Given the description of an element on the screen output the (x, y) to click on. 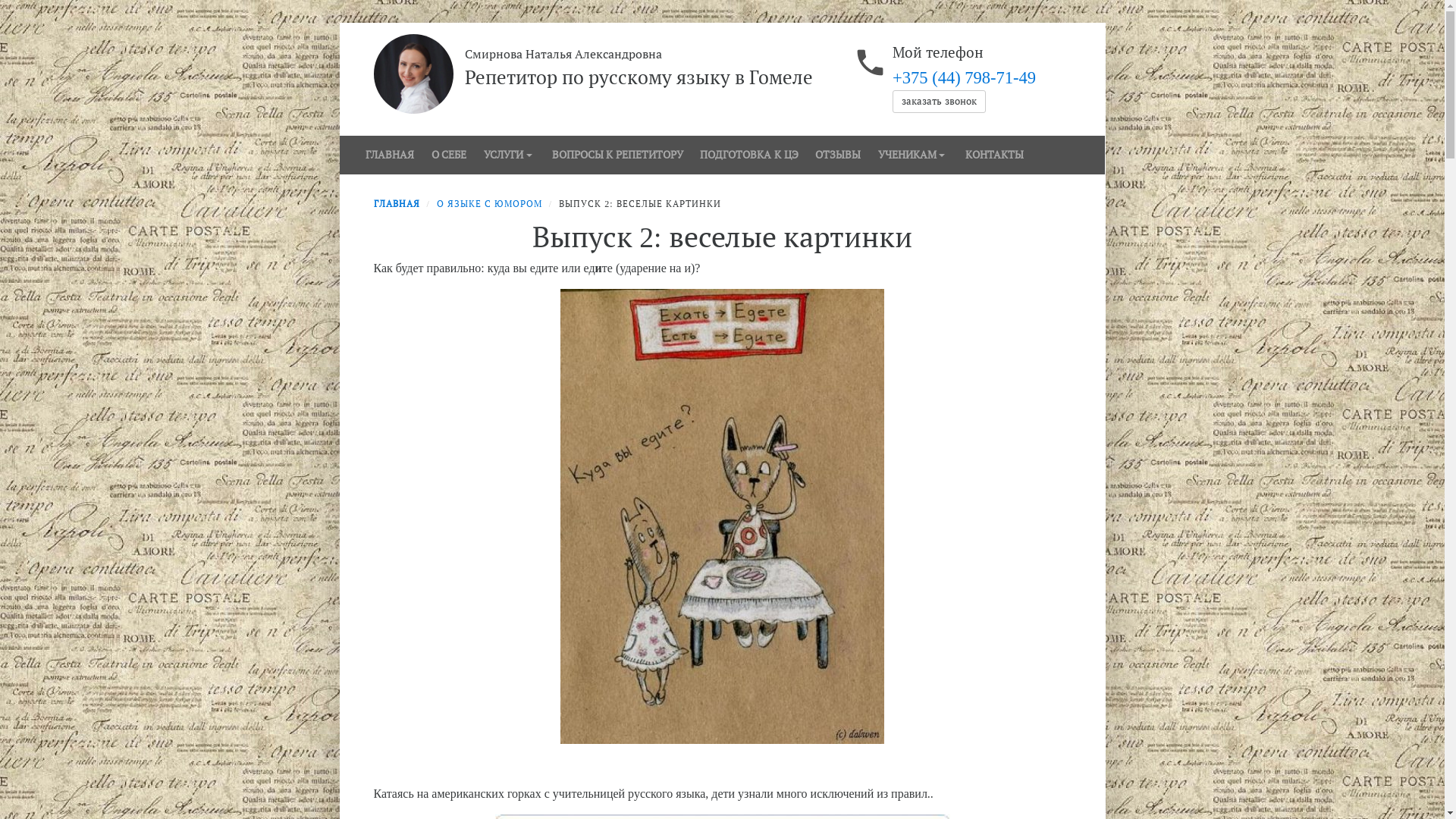
+375 (44) 798-71-49 Element type: text (963, 77)
